Given the description of an element on the screen output the (x, y) to click on. 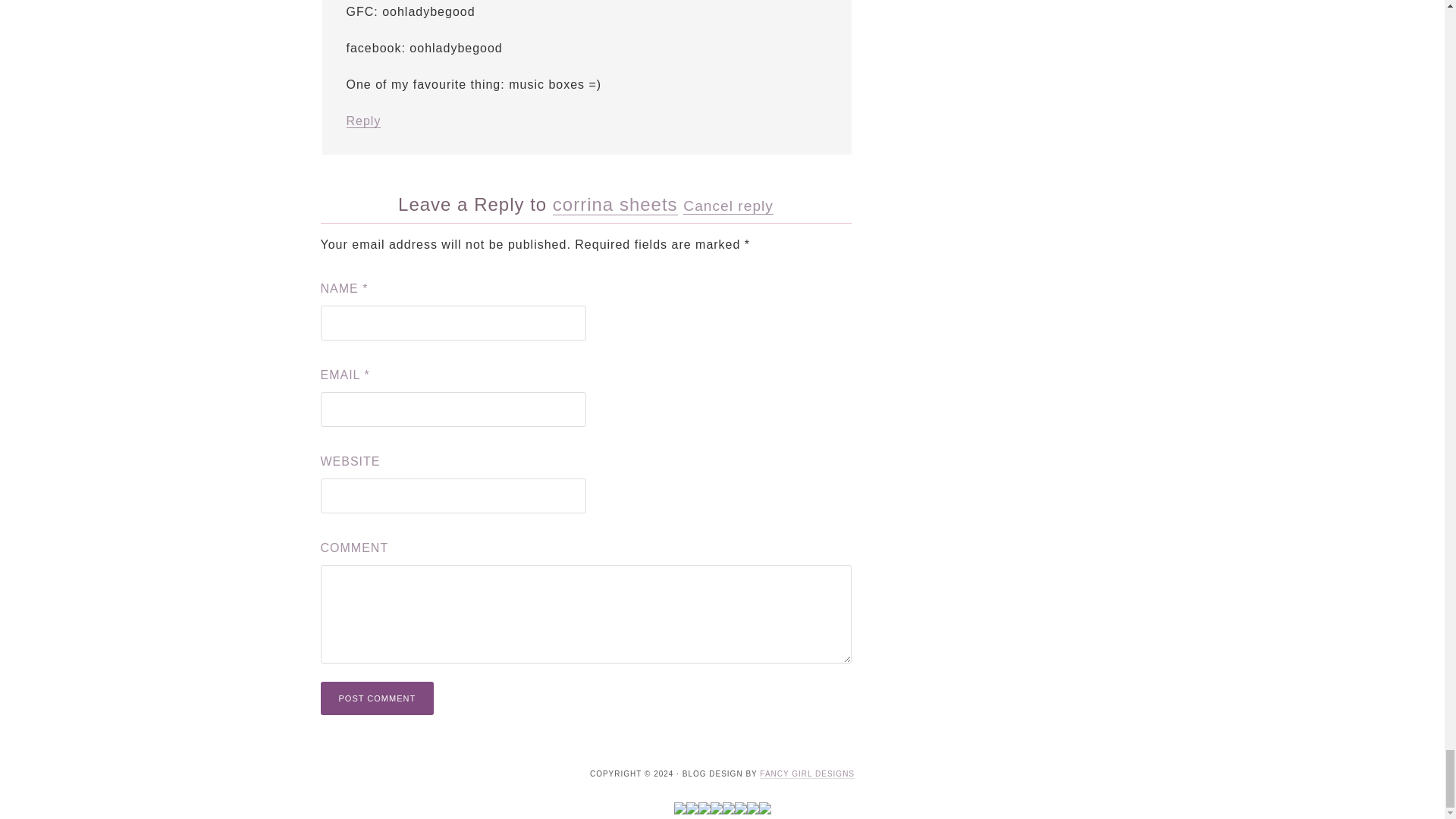
Post Comment (376, 697)
